Given the description of an element on the screen output the (x, y) to click on. 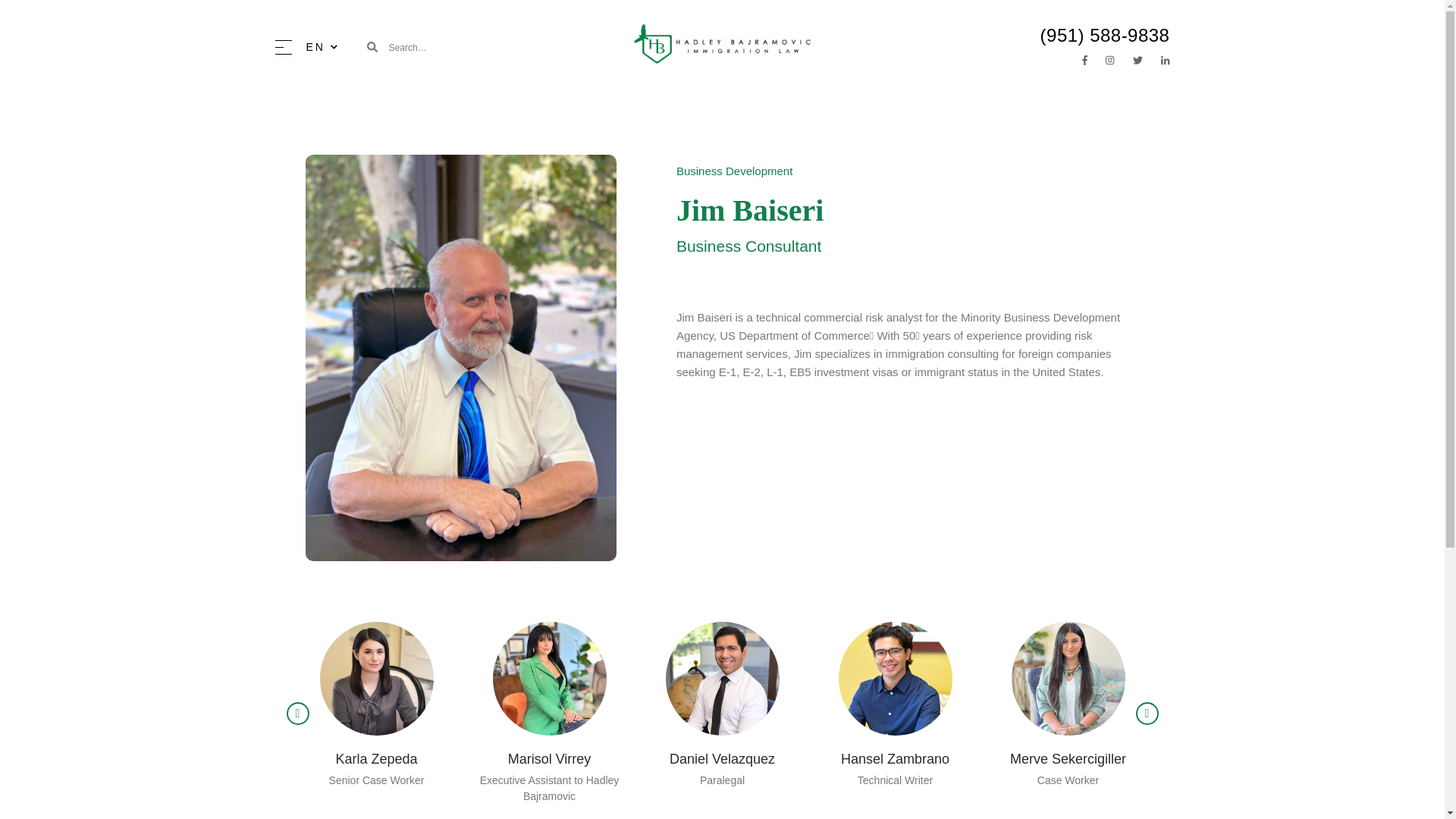
Business Development (734, 170)
Karla-Zepeda (376, 678)
Karla Zepeda (375, 759)
Go! (525, 54)
Page 7 (904, 344)
Go! (525, 54)
Go! (525, 54)
